Given the description of an element on the screen output the (x, y) to click on. 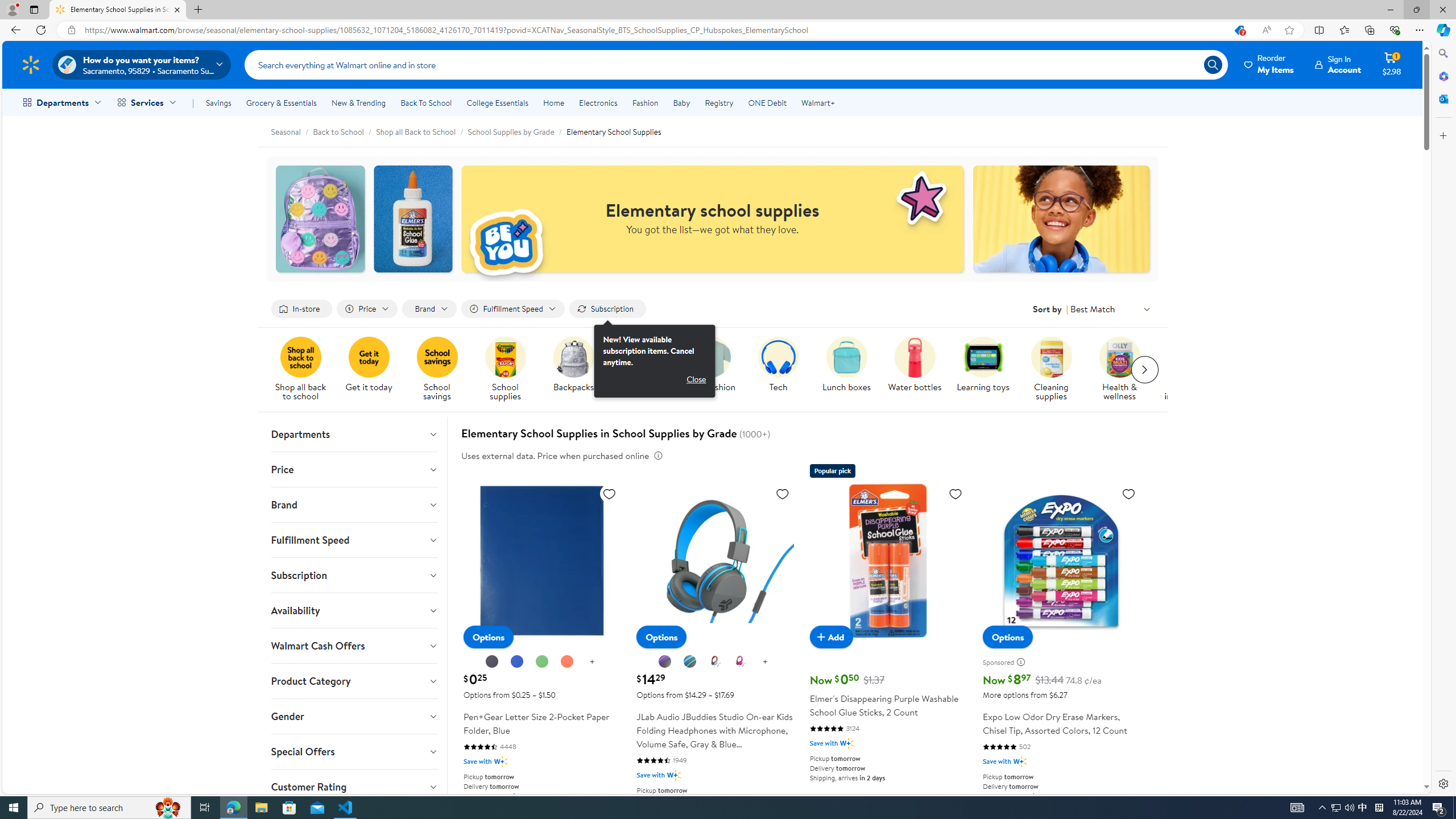
Pen+Gear Letter Size 2-Pocket Paper Folder, Blue (542, 560)
Get it today (373, 369)
Blue (517, 662)
Gender (354, 716)
Ad disclaimer and feedback (1024, 661)
Black (491, 662)
Boys' fashion (709, 357)
Graphite Purple (666, 662)
Seasonal (285, 131)
Fulfillment Speed (354, 539)
Gender (354, 716)
A red water bottle is on display. (914, 357)
